Given the description of an element on the screen output the (x, y) to click on. 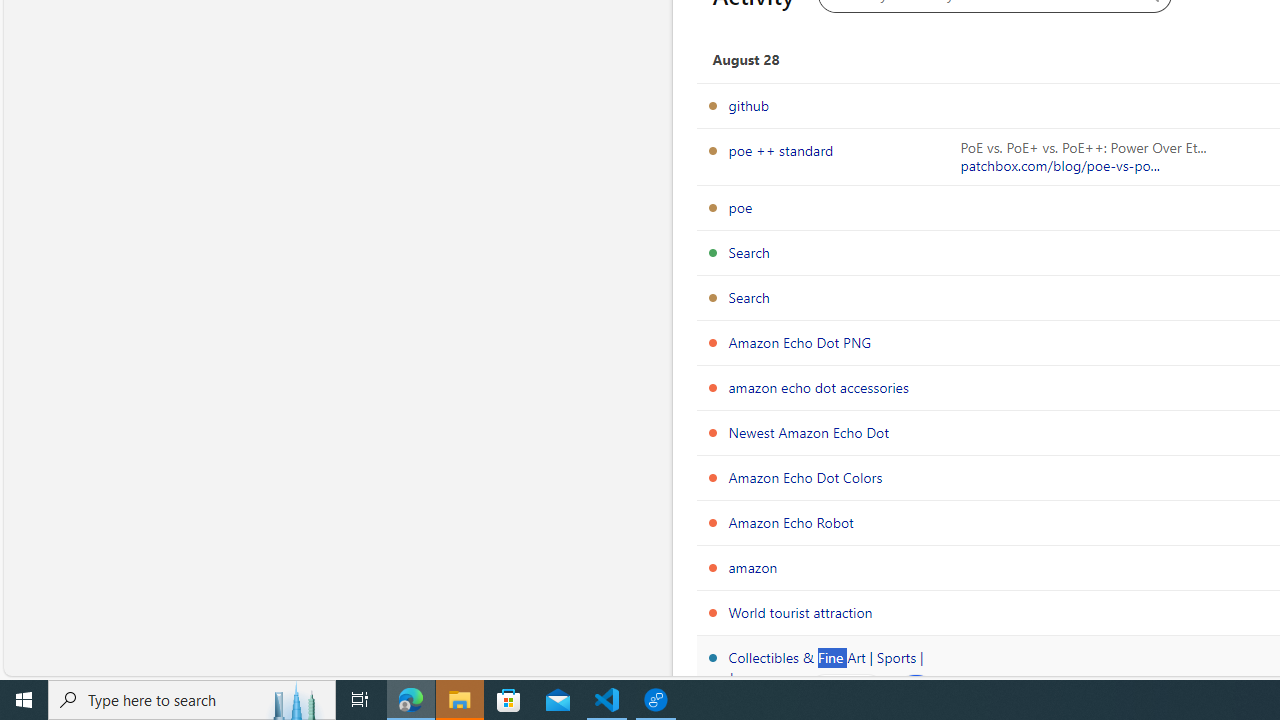
AutomationID: qs_chatBox (914, 694)
poe ++ standard (781, 150)
amazon echo dot accessories (818, 387)
Amazon Echo Robot (790, 522)
Fine (846, 694)
poe (740, 207)
Search (749, 297)
github (748, 105)
World tourist attraction (800, 612)
Newest Amazon Echo Dot (808, 432)
Collectibles & Fine Art | Sports | Jerseys (826, 667)
Amazon Echo Dot PNG (799, 342)
patchbox.com/blog/poe-vs-po... (1059, 165)
amazon (753, 567)
Amazon Echo Dot Colors (805, 477)
